Given the description of an element on the screen output the (x, y) to click on. 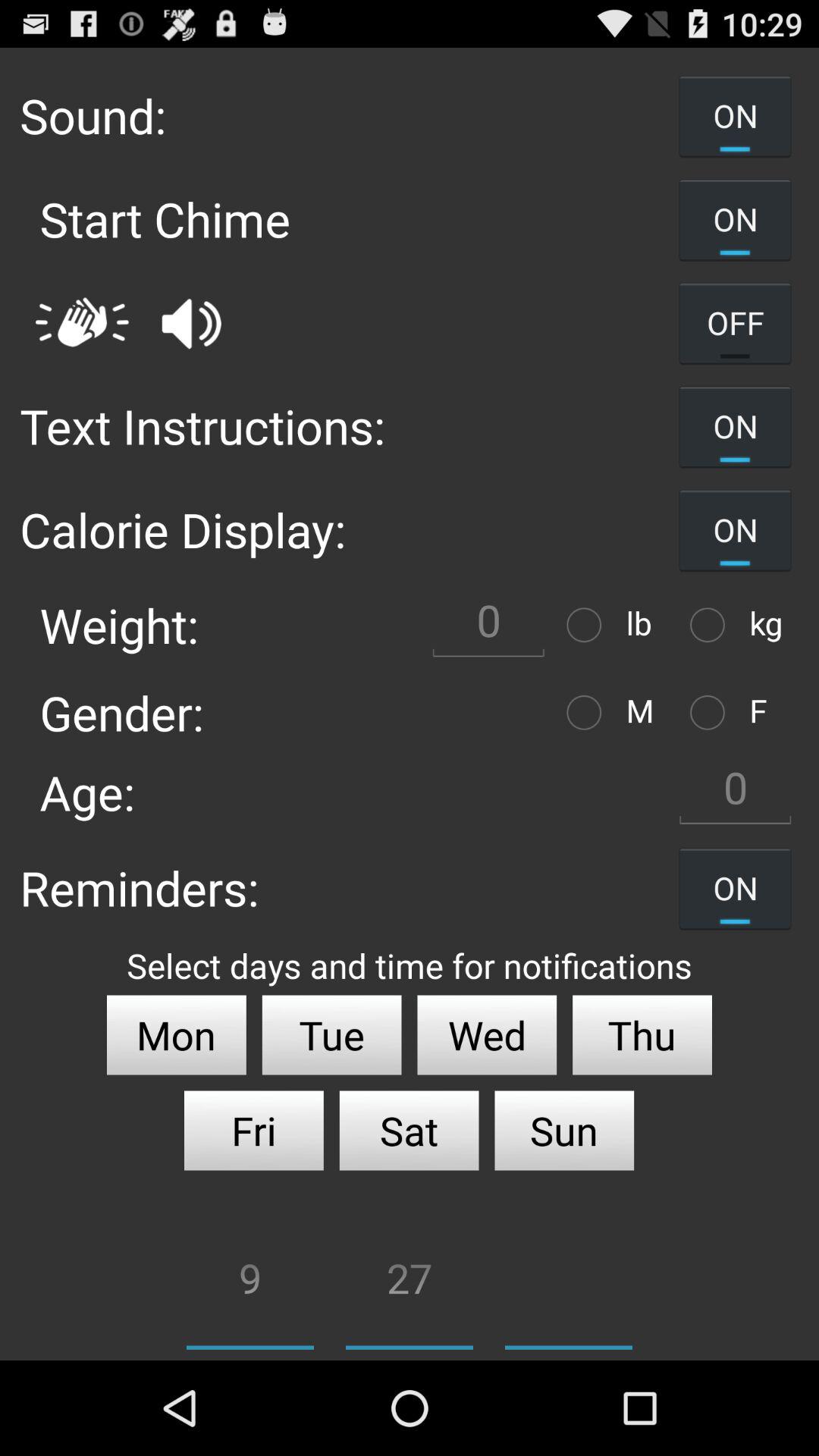
option (711, 624)
